Given the description of an element on the screen output the (x, y) to click on. 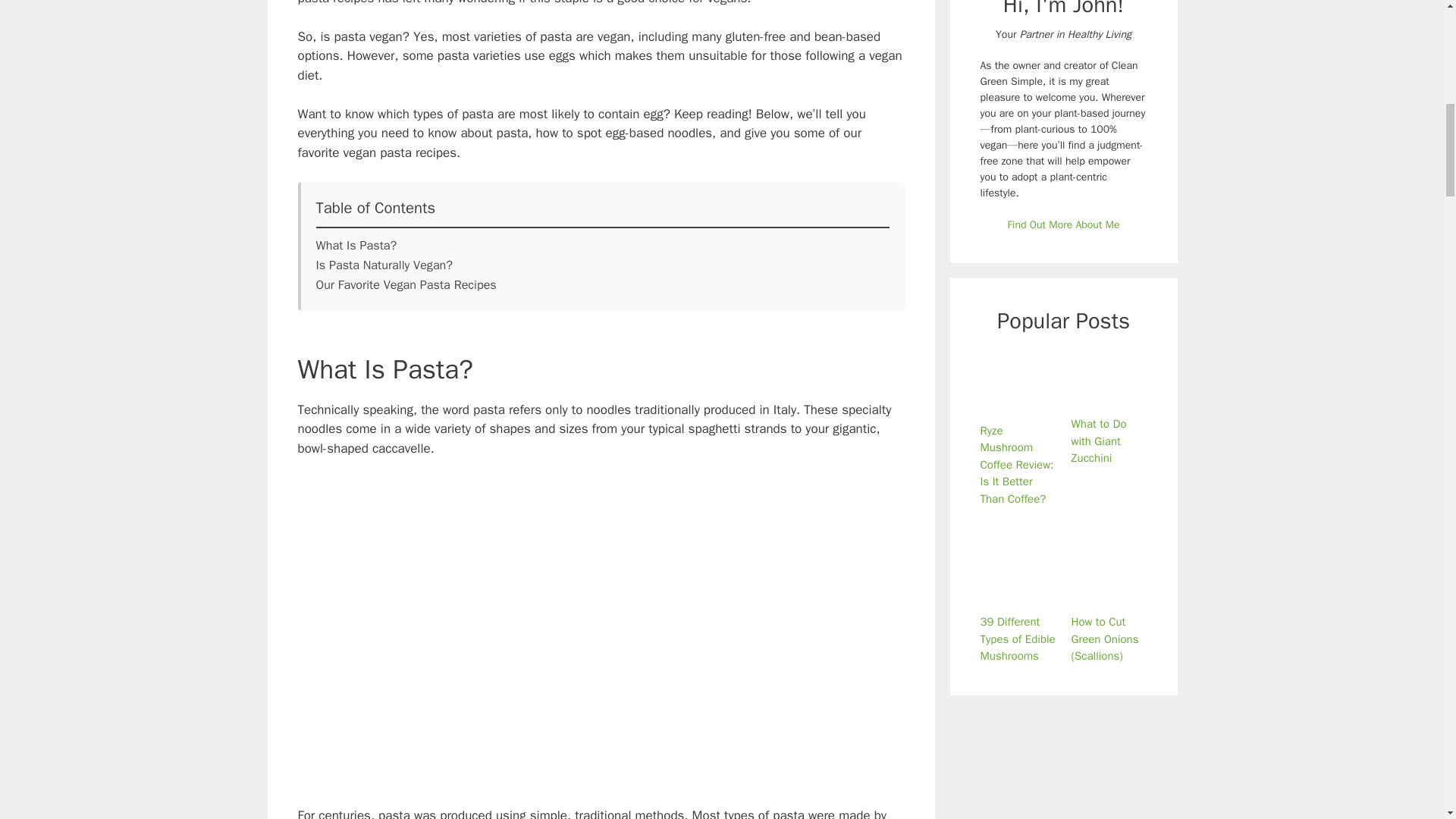
Is Pasta Naturally Vegan? (383, 265)
Our Favorite Vegan Pasta Recipes (405, 284)
What Is Pasta? (355, 245)
